Given the description of an element on the screen output the (x, y) to click on. 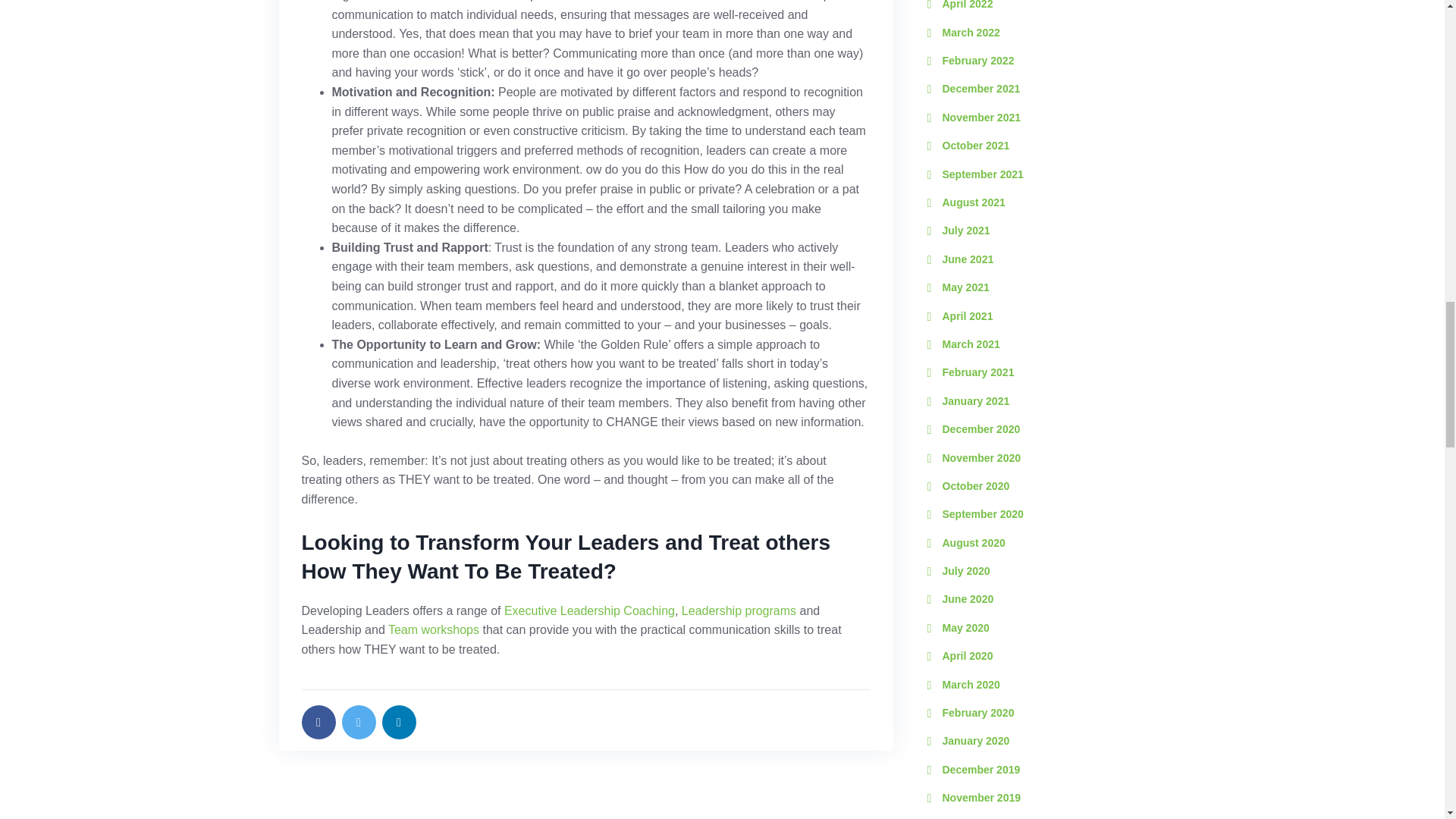
Share on LinkedIn (398, 722)
Share on Facebook (318, 722)
Share on Twitter (357, 722)
